Given the description of an element on the screen output the (x, y) to click on. 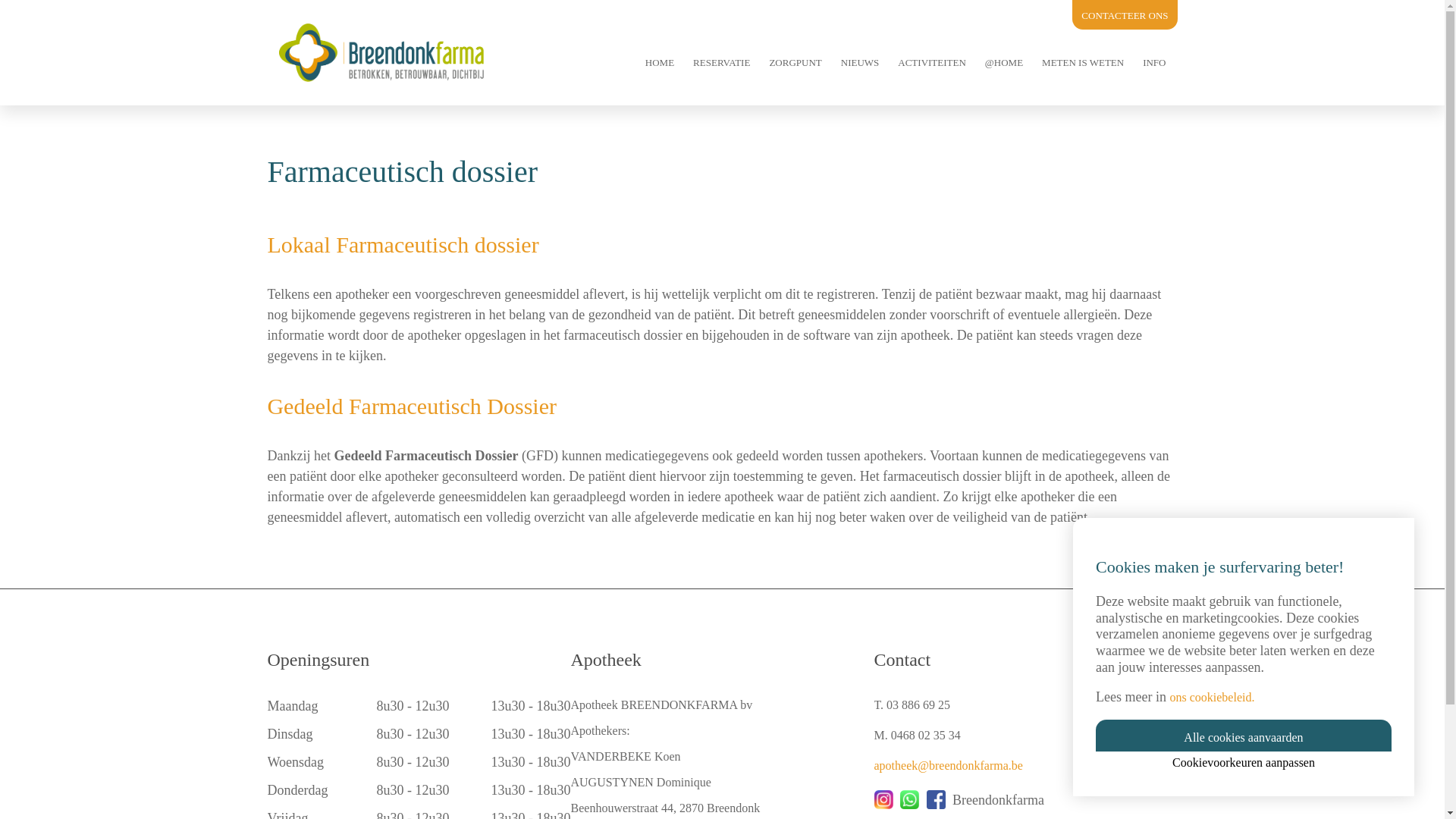
apotheek@breendonkfarma.be Element type: text (947, 765)
Cookievoorkeuren aanpassen Element type: text (1243, 762)
@HOME Element type: text (1003, 62)
ZORGPUNT Element type: text (794, 62)
ACTIVITEITEN Element type: text (931, 62)
ons cookiebeleid. Element type: text (1211, 696)
HOME Element type: text (659, 62)
NIEUWS Element type: text (859, 62)
RESERVATIE Element type: text (721, 62)
T. 03 886 69 25 Element type: text (911, 704)
METEN IS WETEN Element type: text (1082, 62)
INFO Element type: text (1153, 62)
Alle cookies aanvaarden Element type: text (1243, 735)
CONTACTEER ONS Element type: text (1124, 15)
M. 0468 02 35 34 Element type: text (916, 734)
